Given the description of an element on the screen output the (x, y) to click on. 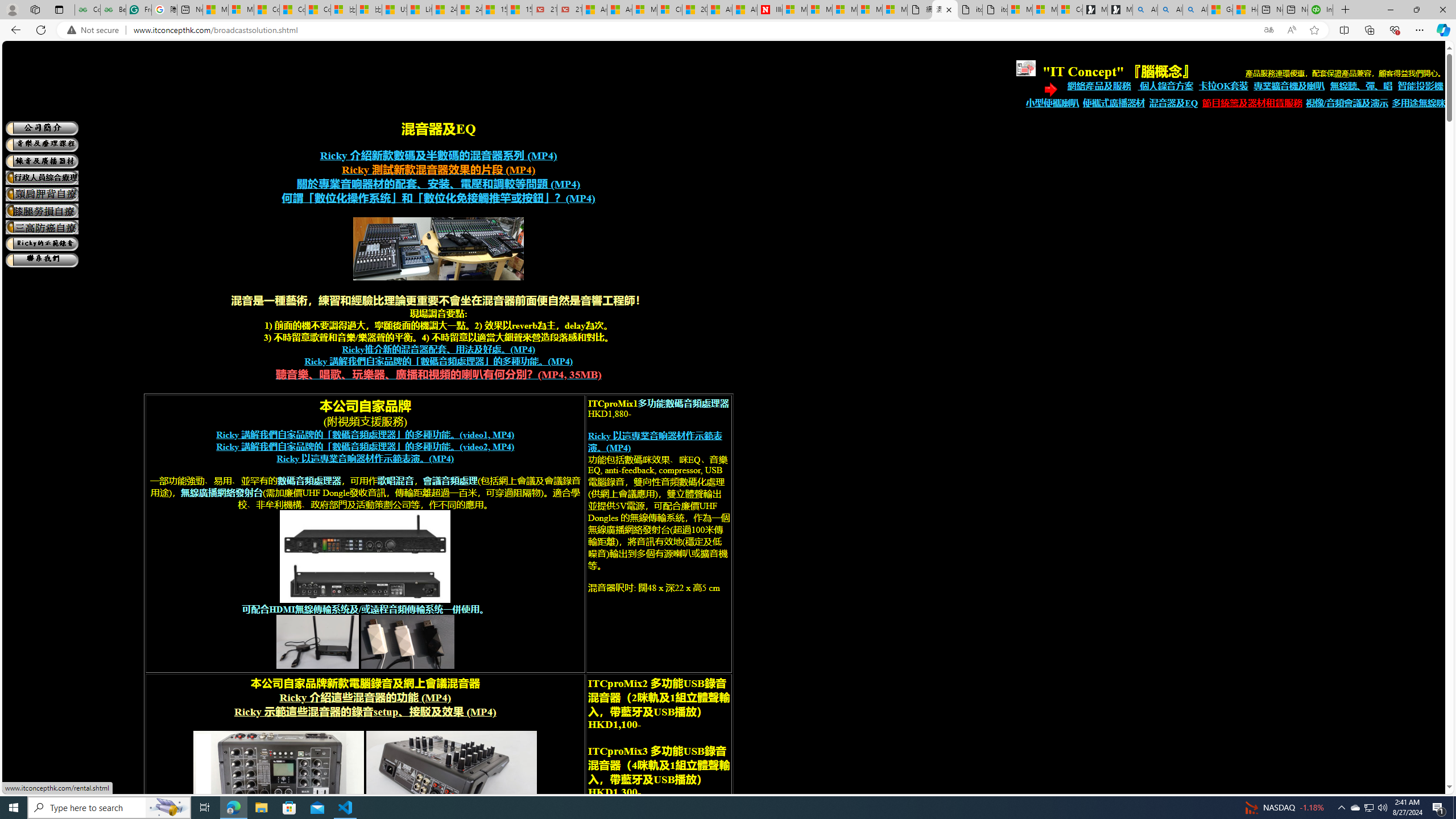
How to Use a TV as a Computer Monitor (1244, 9)
